Given the description of an element on the screen output the (x, y) to click on. 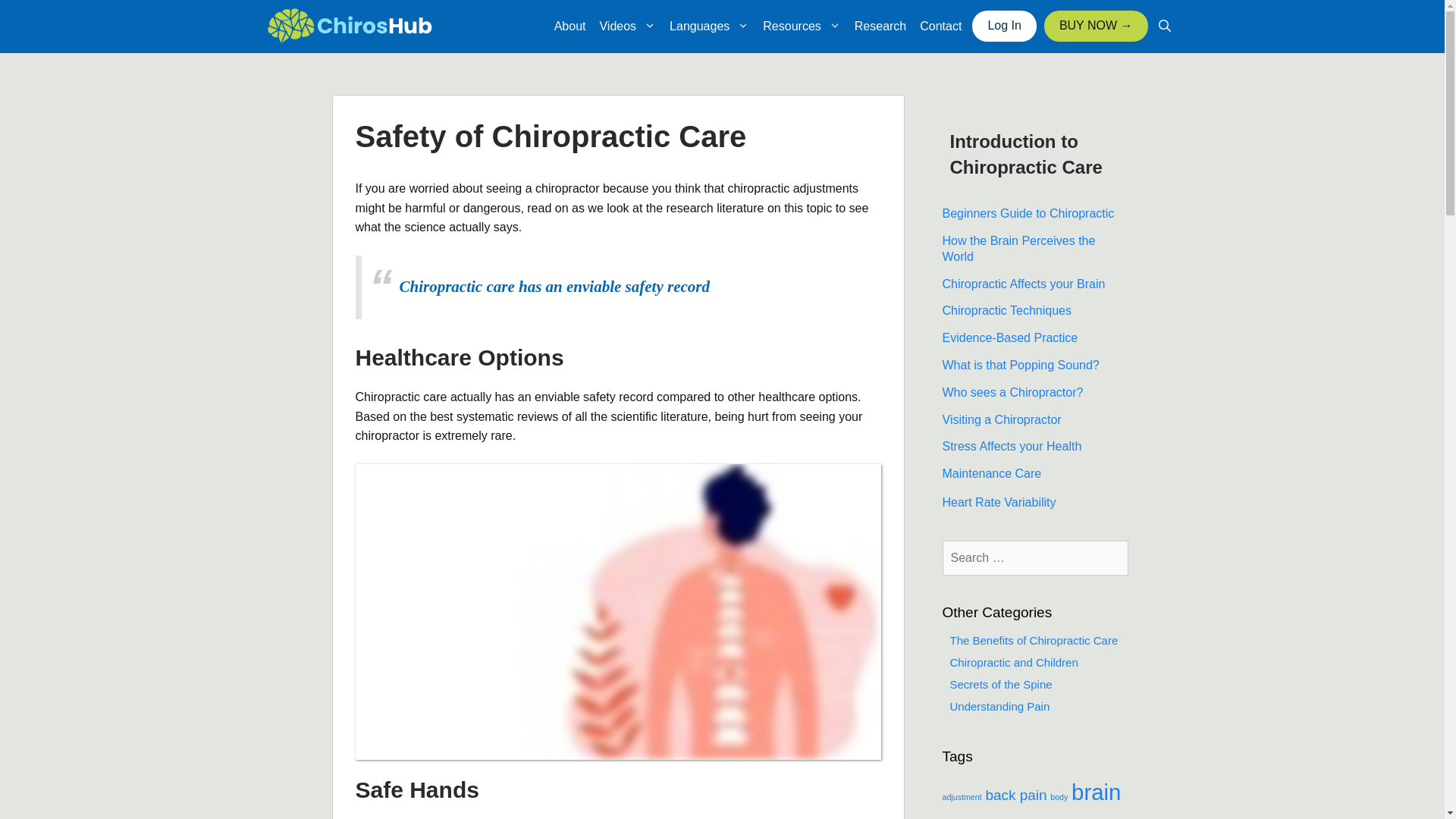
About (569, 26)
Resources (801, 26)
Videos (627, 26)
Contact (940, 26)
Research (879, 26)
Log In (1003, 25)
Search for: (1034, 557)
Languages (708, 26)
